Given the description of an element on the screen output the (x, y) to click on. 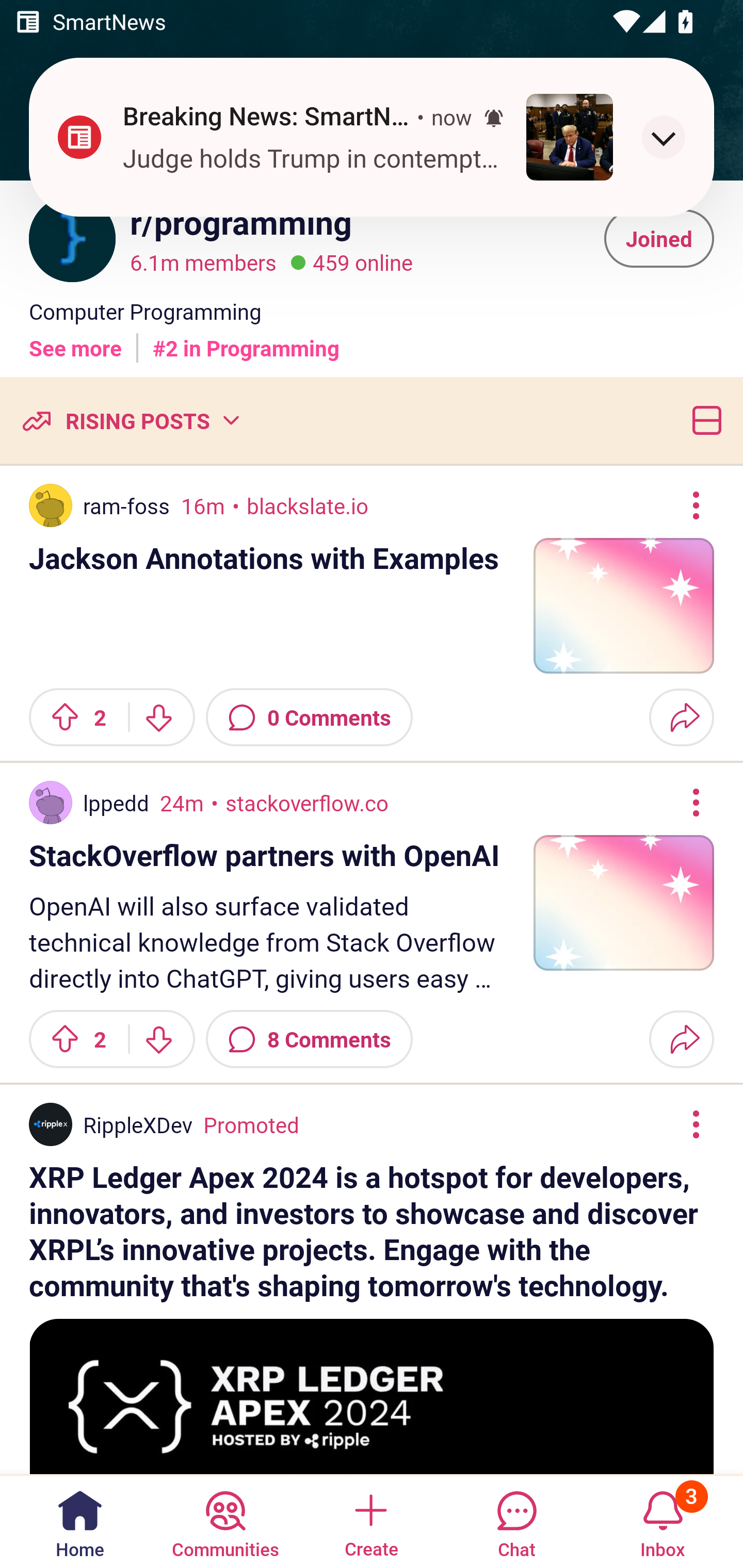
Back (64, 115)
More community actions (677, 115)
See more (74, 340)
#2 in Programming (246, 340)
Rising posts RISING POSTS (130, 420)
Card (703, 420)
Home (80, 1520)
Communities (225, 1520)
Create a post Create (370, 1520)
Chat (516, 1520)
Inbox, has 3 notifications 3 Inbox (662, 1520)
